Given the description of an element on the screen output the (x, y) to click on. 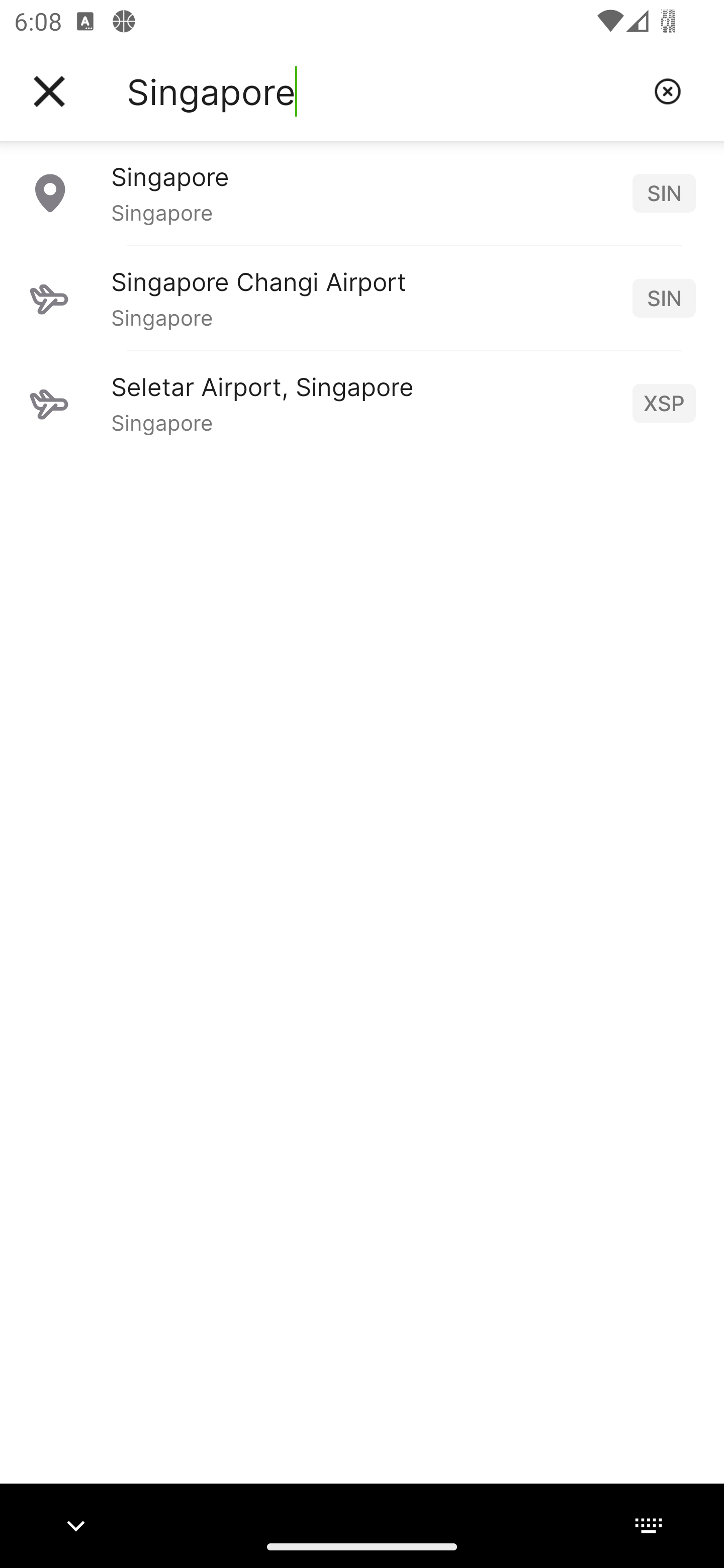
Singapore (382, 91)
Singapore Singapore SIN (362, 192)
Singapore Changi Airport Singapore SIN (362, 297)
Seletar Airport, Singapore Singapore XSP (362, 402)
